Given the description of an element on the screen output the (x, y) to click on. 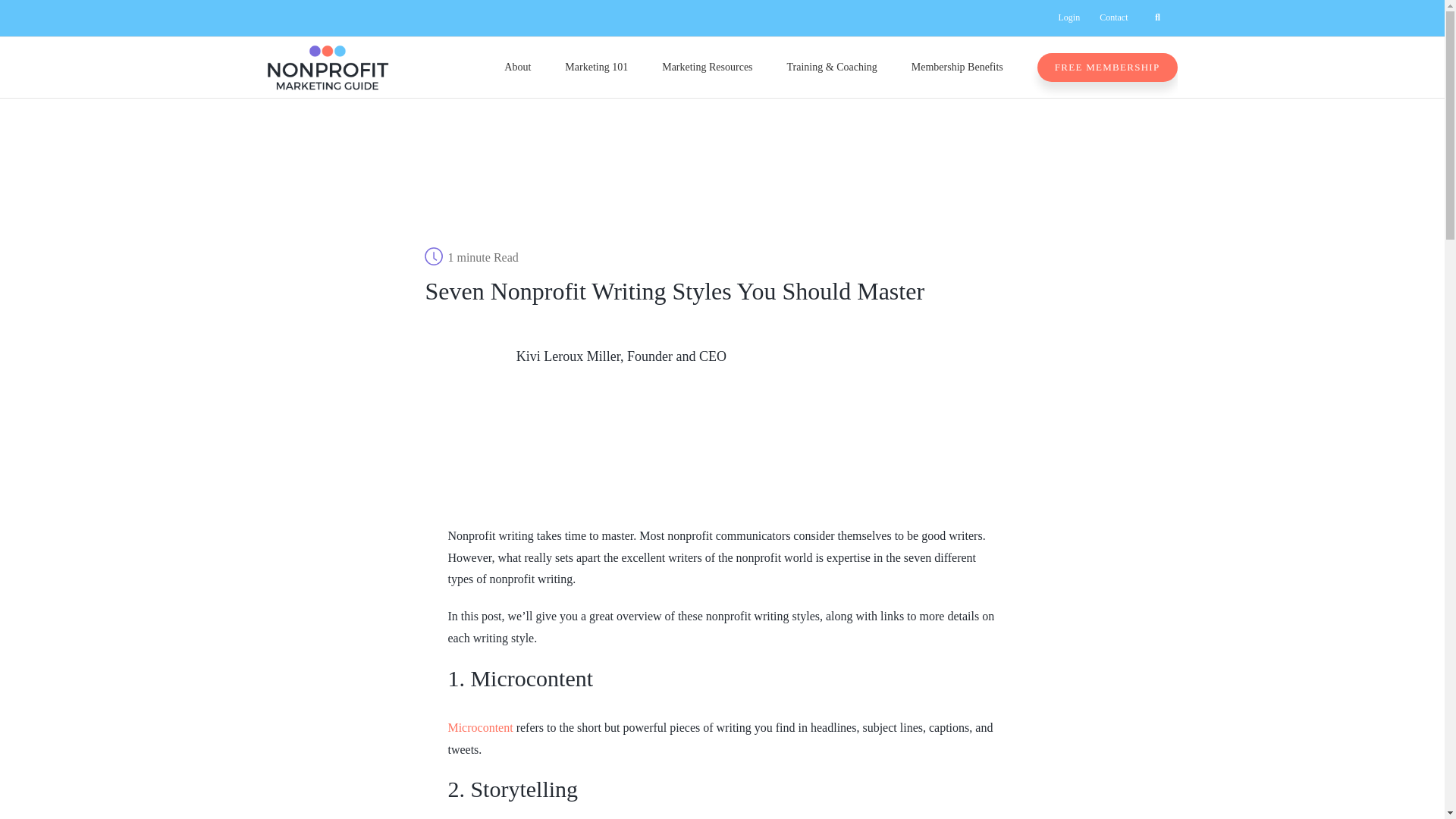
Marketing Resources (707, 66)
Contact (1113, 18)
Marketing 101 (595, 66)
Login (1068, 18)
